Given the description of an element on the screen output the (x, y) to click on. 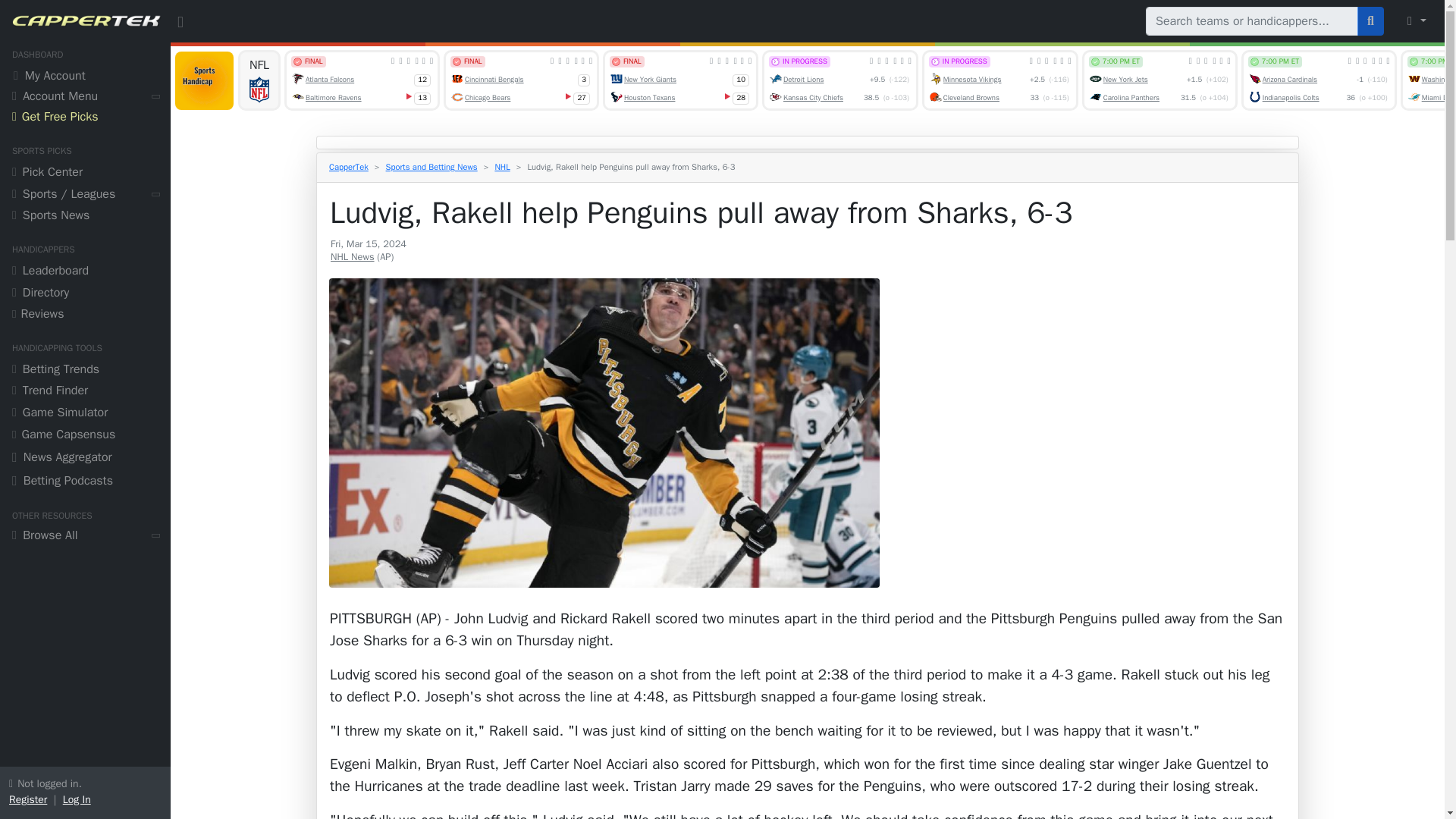
Reviews (85, 315)
Sports News (85, 217)
Directory (85, 294)
Get Free Picks (85, 118)
Game Simulator (85, 414)
Betting Podcasts (85, 482)
Browse All (85, 536)
Pick Center (85, 173)
Account Menu (85, 97)
Betting Trends (85, 371)
